Given the description of an element on the screen output the (x, y) to click on. 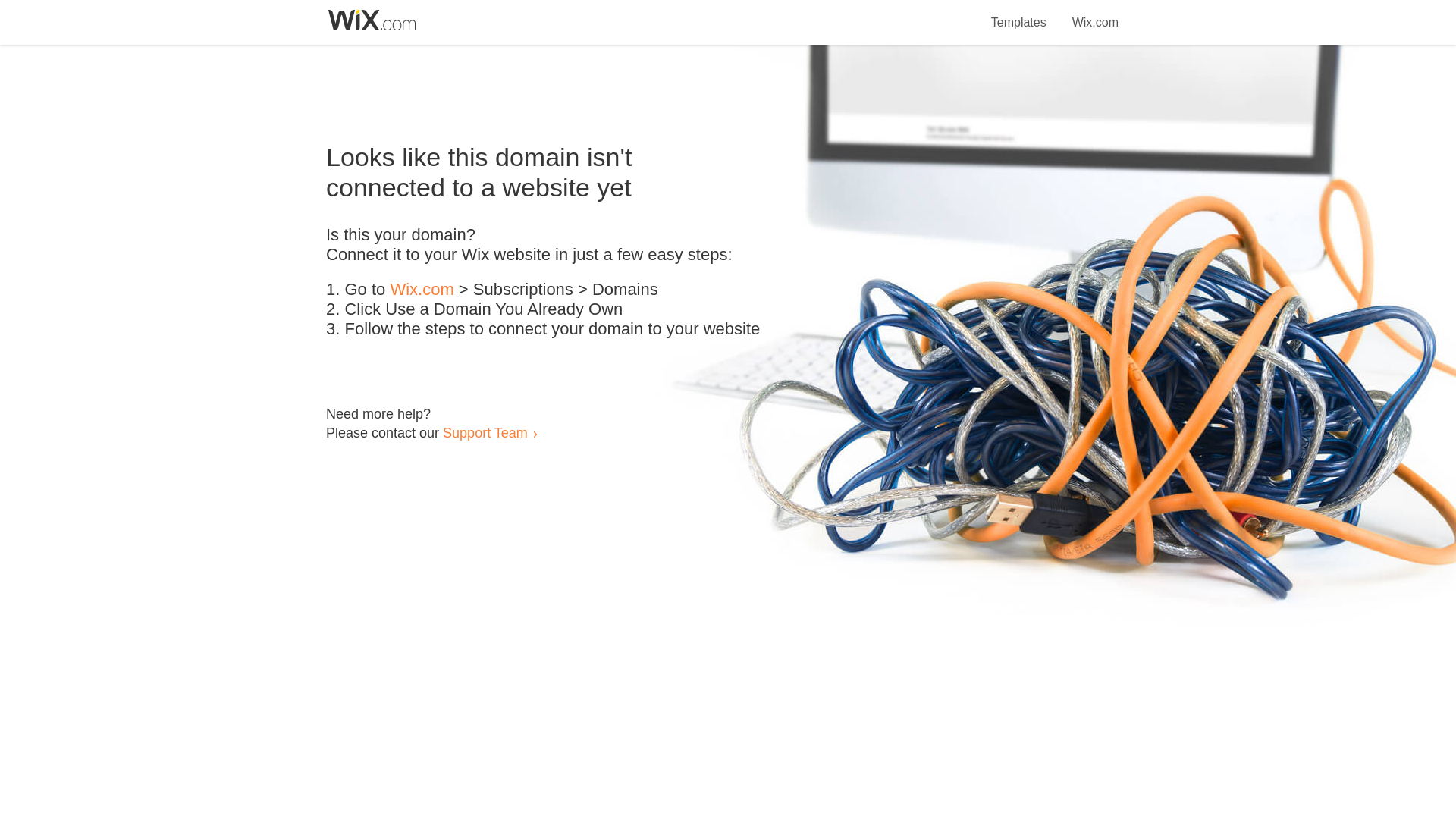
Support Team (484, 432)
Wix.com (421, 289)
Templates (1018, 14)
Wix.com (1095, 14)
